Given the description of an element on the screen output the (x, y) to click on. 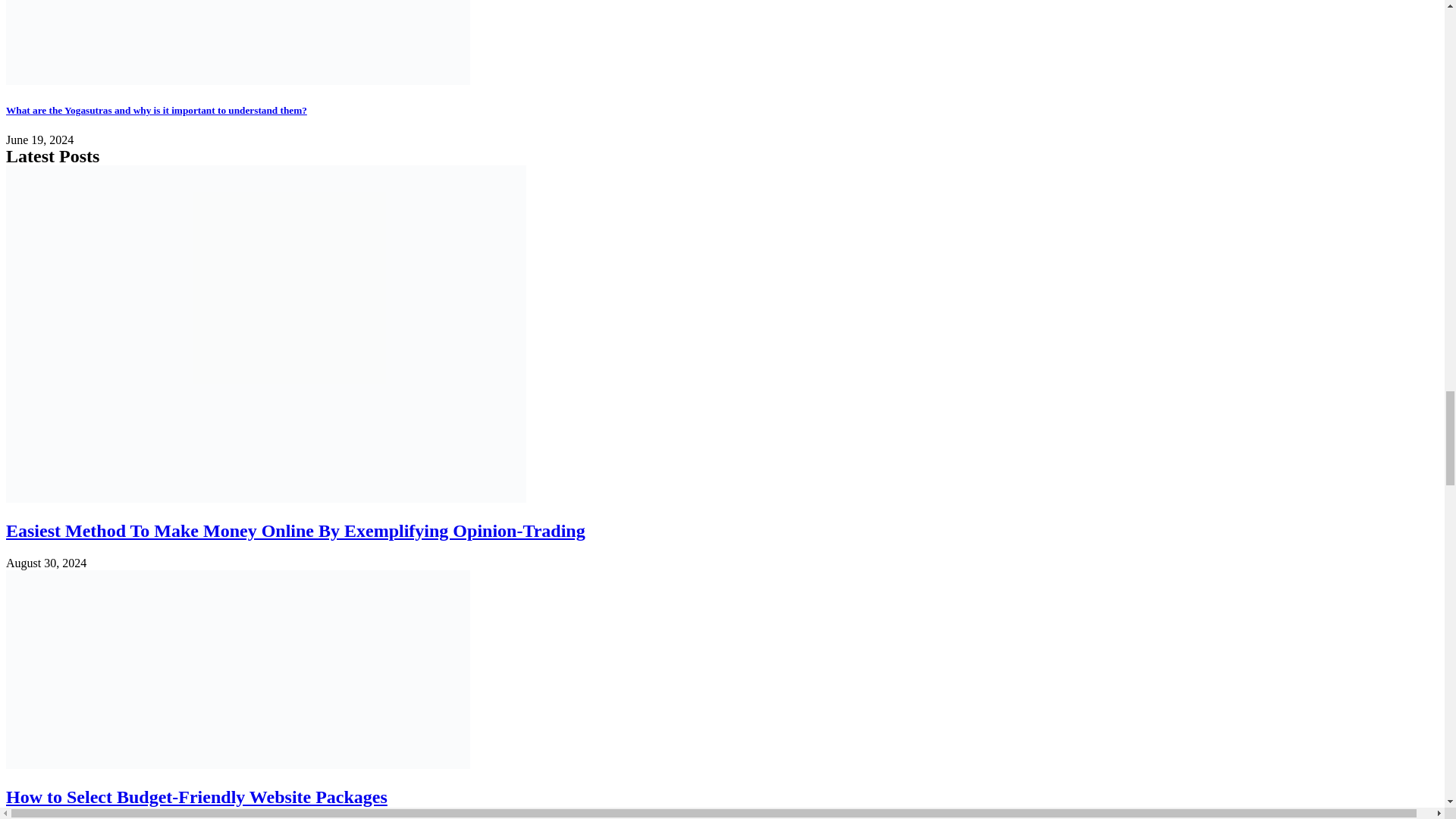
How to Select Budget-Friendly Website Packages (196, 796)
